Given the description of an element on the screen output the (x, y) to click on. 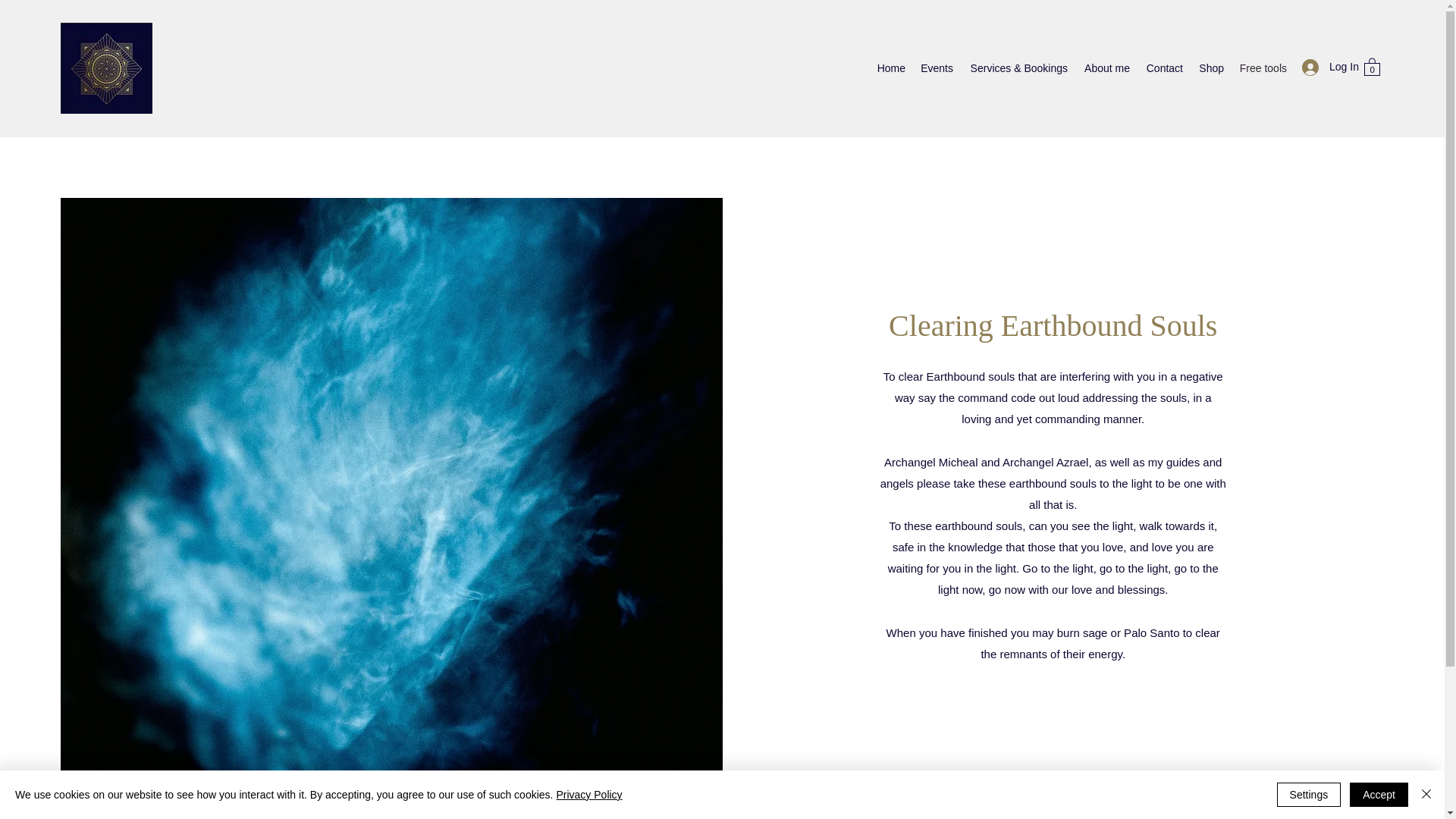
Log In (1325, 67)
Accept (1378, 794)
Free tools (1262, 67)
Settings (1308, 794)
Shop (1211, 67)
About me (1106, 67)
Privacy Policy (588, 794)
Contact (1164, 67)
Events (936, 67)
Home (890, 67)
